Given the description of an element on the screen output the (x, y) to click on. 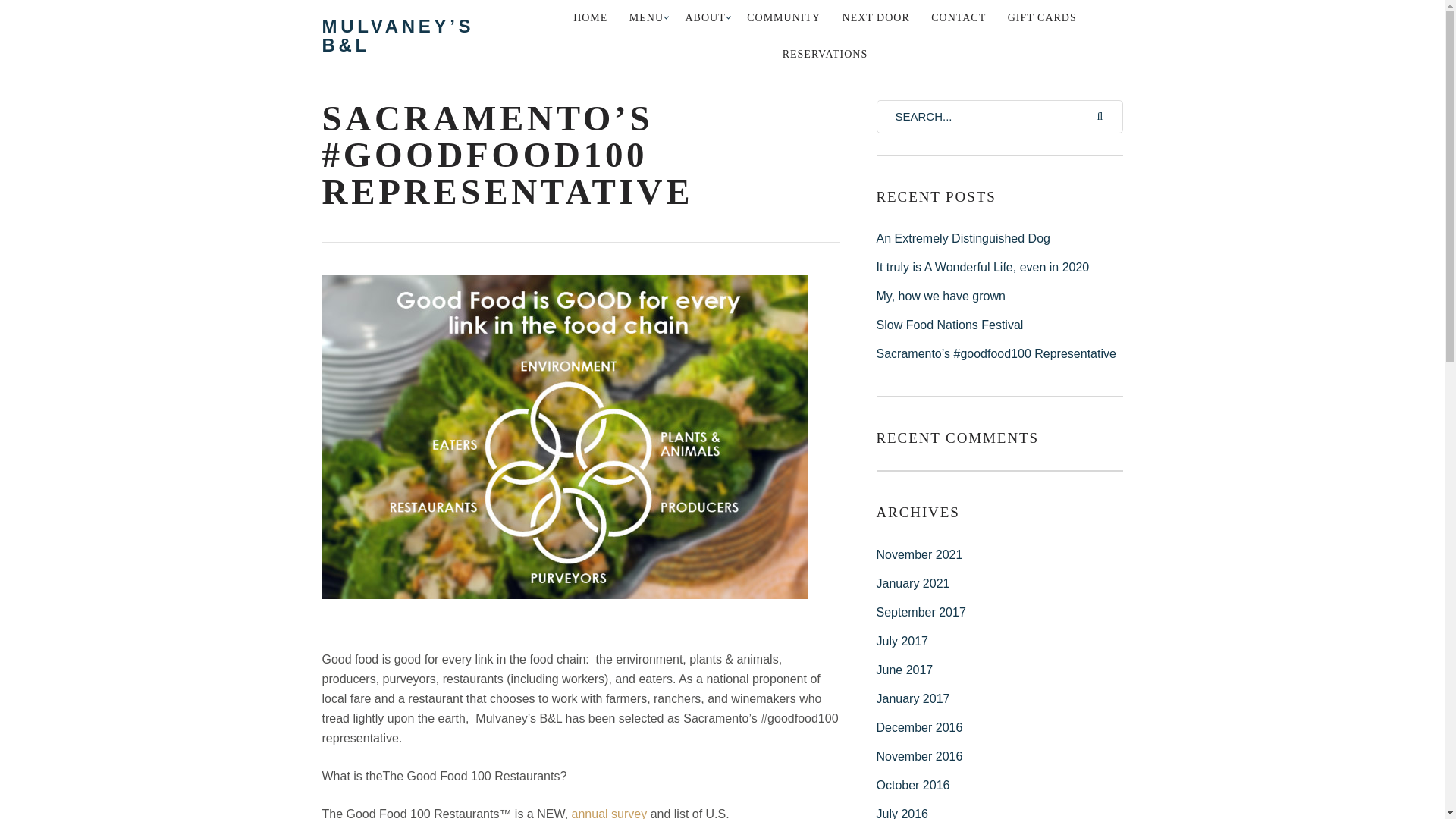
NEXT DOOR (875, 18)
My, how we have grown (999, 296)
An Extremely Distinguished Dog (999, 238)
July 2017 (902, 641)
October 2016 (913, 785)
Slow Food Nations Festival (999, 325)
annual survey (609, 813)
December 2016 (919, 727)
GIFT CARDS (1042, 18)
RESERVATIONS (825, 54)
January 2017 (913, 698)
June 2017 (904, 670)
ABOUT (706, 18)
November 2021 (919, 554)
CONTACT (957, 18)
